Given the description of an element on the screen output the (x, y) to click on. 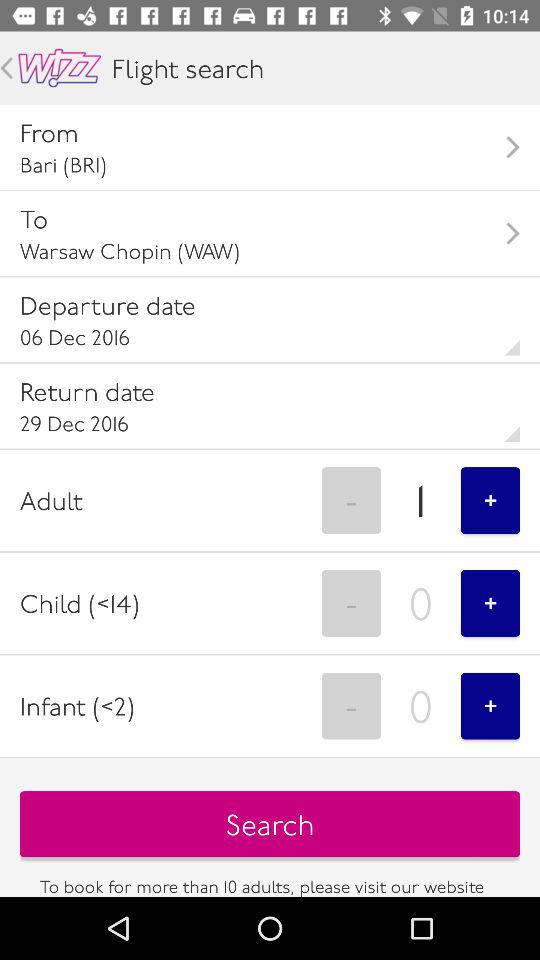
go back (6, 67)
